Given the description of an element on the screen output the (x, y) to click on. 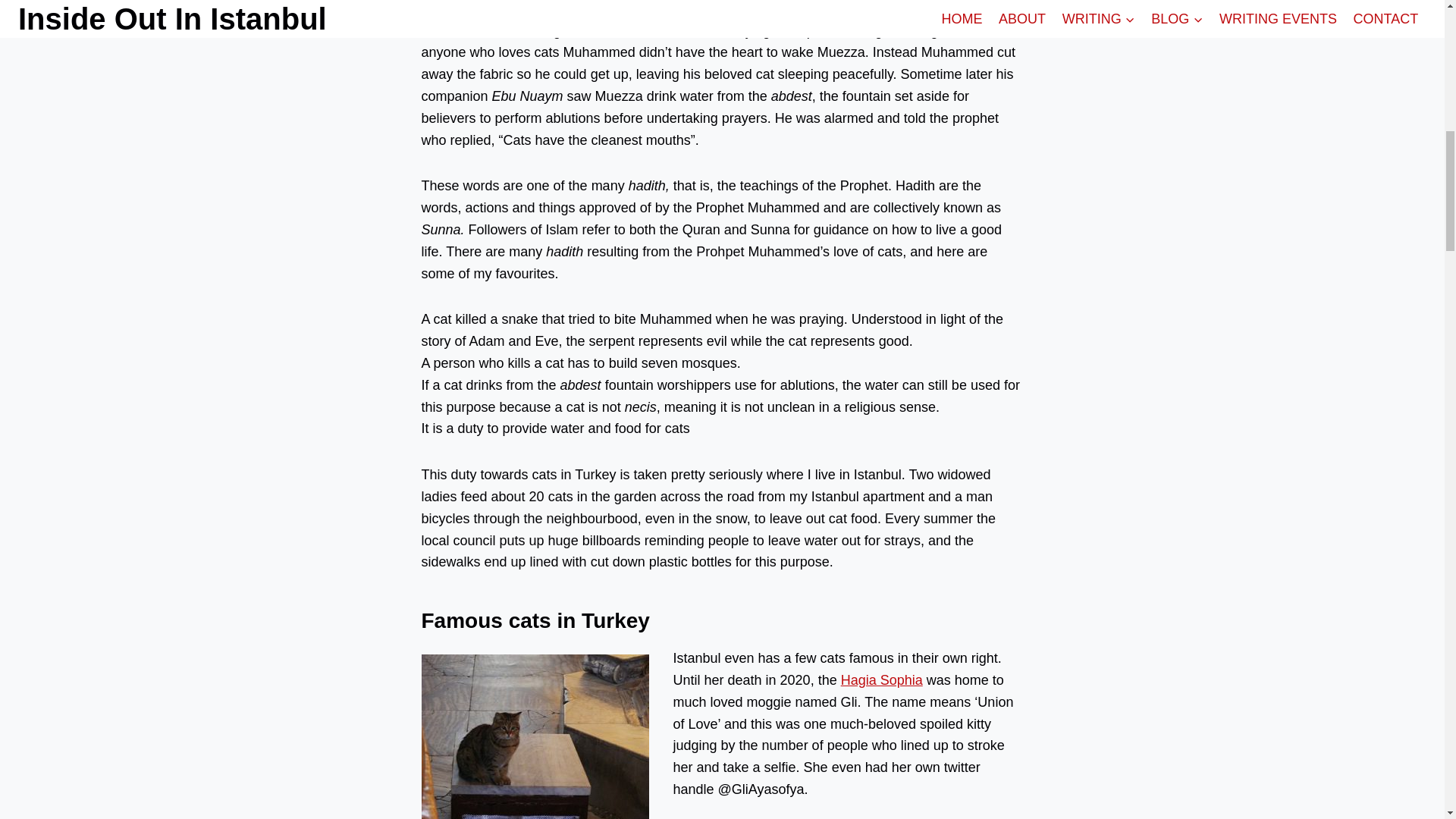
Hagia Sophia (882, 679)
